Given the description of an element on the screen output the (x, y) to click on. 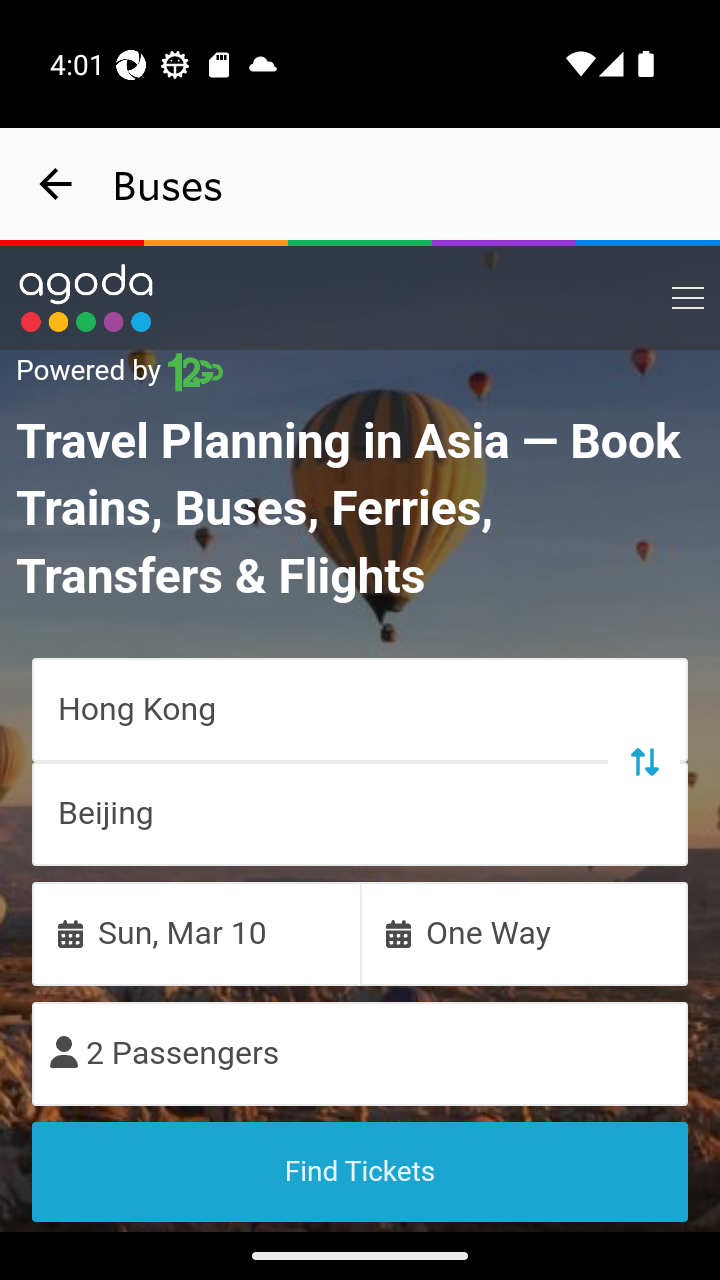
navigation_button (56, 184)
Link to main page 5418 (86, 298)
Hong Kong Swap trip points (359, 708)
Swap trip points (643, 760)
Beijing (359, 813)
Sun, Mar 10 (195, 932)
One Way (524, 932)
 2 Passengers (359, 1052)
Find Tickets (359, 1171)
